Given the description of an element on the screen output the (x, y) to click on. 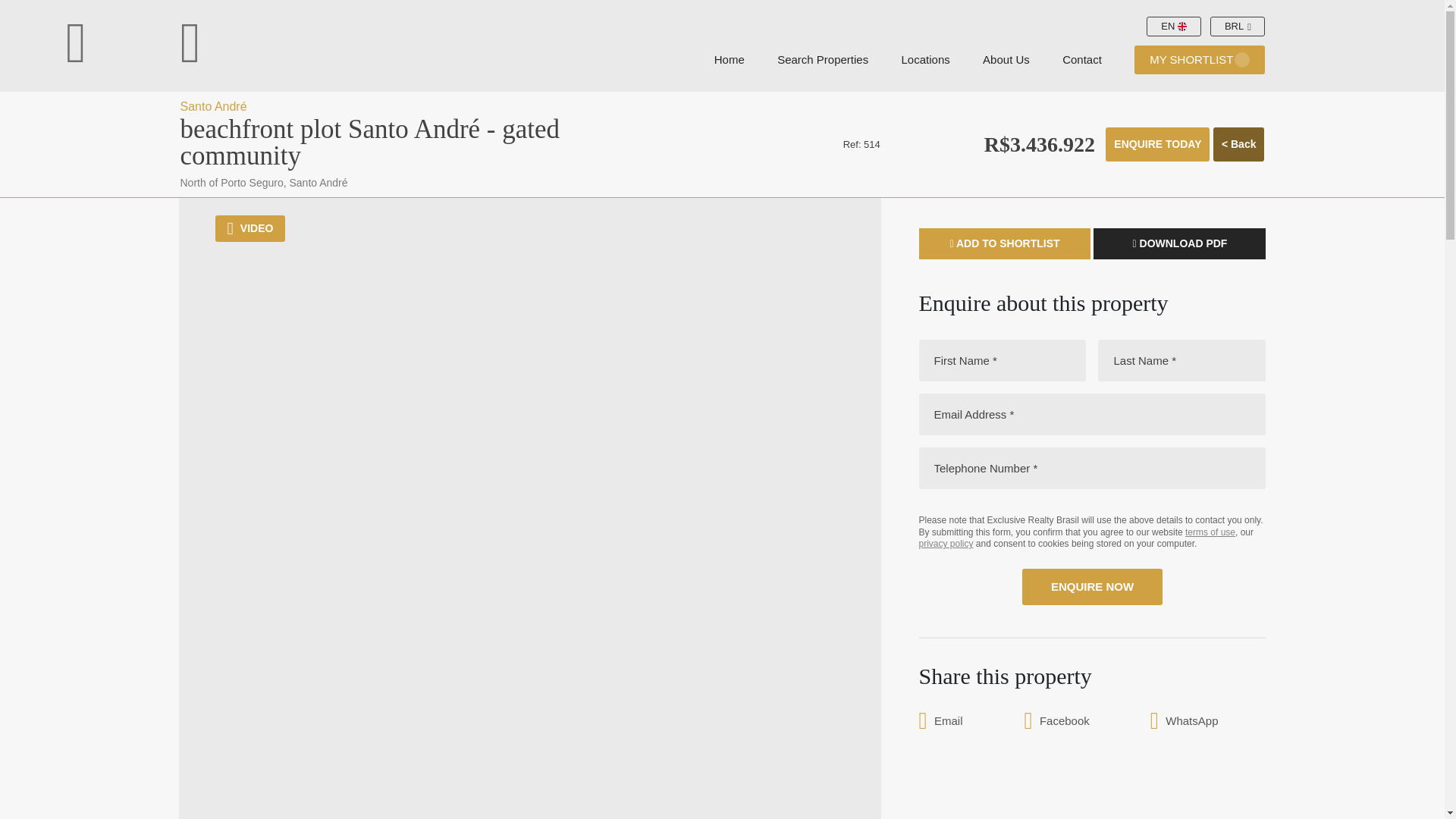
DOWNLOAD PDF (1179, 243)
MY SHORTLIST (1198, 60)
Contact (1082, 60)
ENQUIRE TODAY (1157, 144)
About Us (1005, 60)
Home (729, 60)
VIDEO (250, 228)
BRL (1237, 26)
EN (1174, 26)
privacy policy (946, 543)
